Given the description of an element on the screen output the (x, y) to click on. 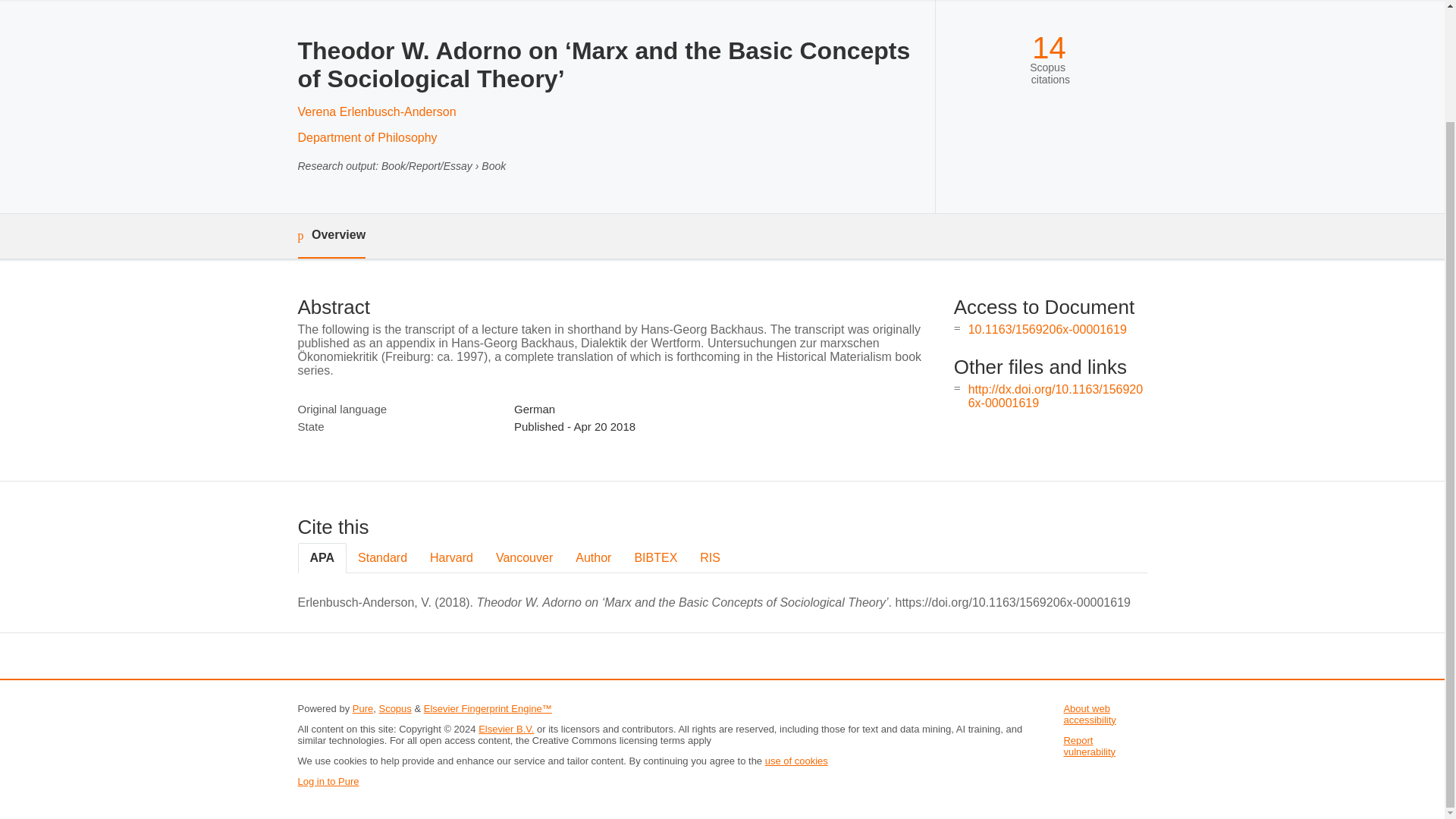
use of cookies (796, 760)
Report vulnerability (1088, 745)
Overview (331, 235)
Verena Erlenbusch-Anderson (376, 111)
Elsevier B.V. (506, 728)
14 (1048, 48)
Scopus (394, 708)
Log in to Pure (327, 781)
Pure (362, 708)
About web accessibility (1088, 713)
Department of Philosophy (366, 137)
